Given the description of an element on the screen output the (x, y) to click on. 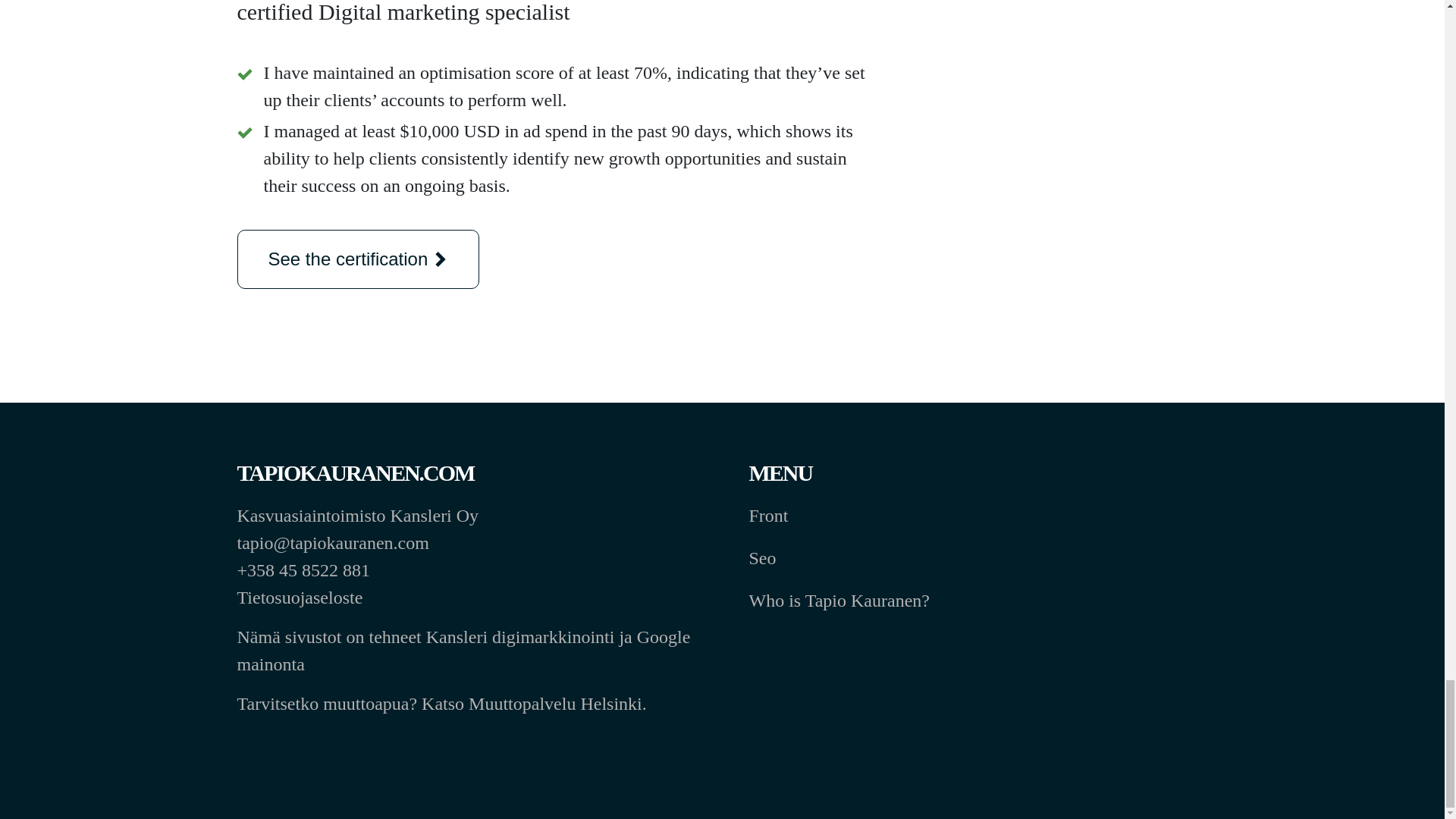
Kasvuasiaintoimisto Kansleri Oy (357, 515)
See the certification (357, 259)
Muuttopalvelu Helsinki (555, 703)
Seo (762, 557)
Who is Tapio Kauranen? (839, 600)
Kansleri digimarkkinointi (520, 637)
Google mainonta (462, 650)
Front (769, 515)
Tietosuojaseloste  (300, 597)
